Given the description of an element on the screen output the (x, y) to click on. 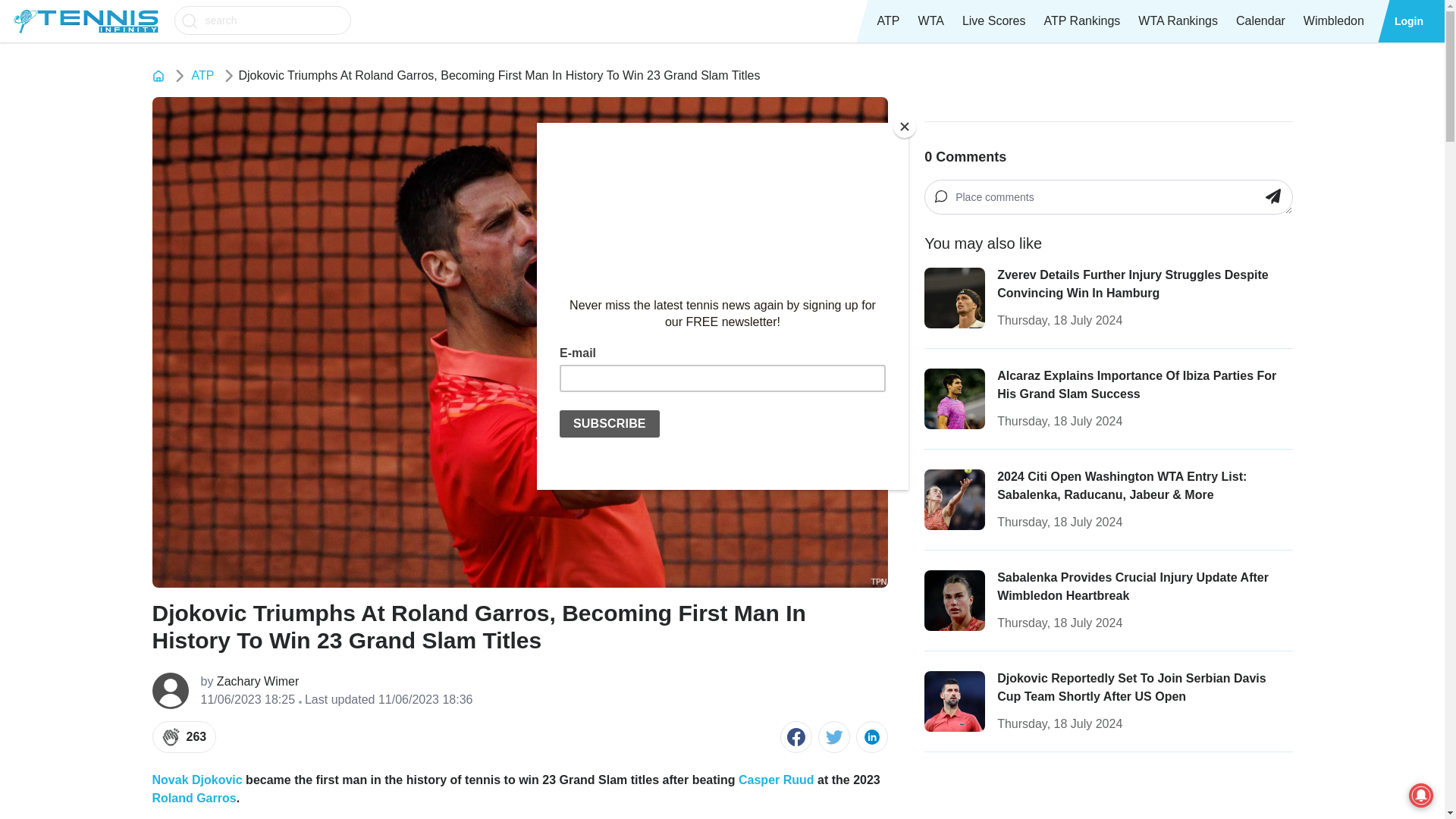
WTA (930, 21)
Casper Ruud (775, 779)
Casper Ruud (775, 779)
WTA Rankings (1178, 21)
Novak Djokovic (196, 779)
ATP (887, 21)
ATP (202, 75)
Roland Garros (193, 797)
263 (183, 736)
Wimbledon (1333, 21)
Login (1409, 20)
Roland Garros (193, 797)
Calendar (1260, 21)
Live Scores (994, 21)
ATP Rankings (1081, 21)
